Given the description of an element on the screen output the (x, y) to click on. 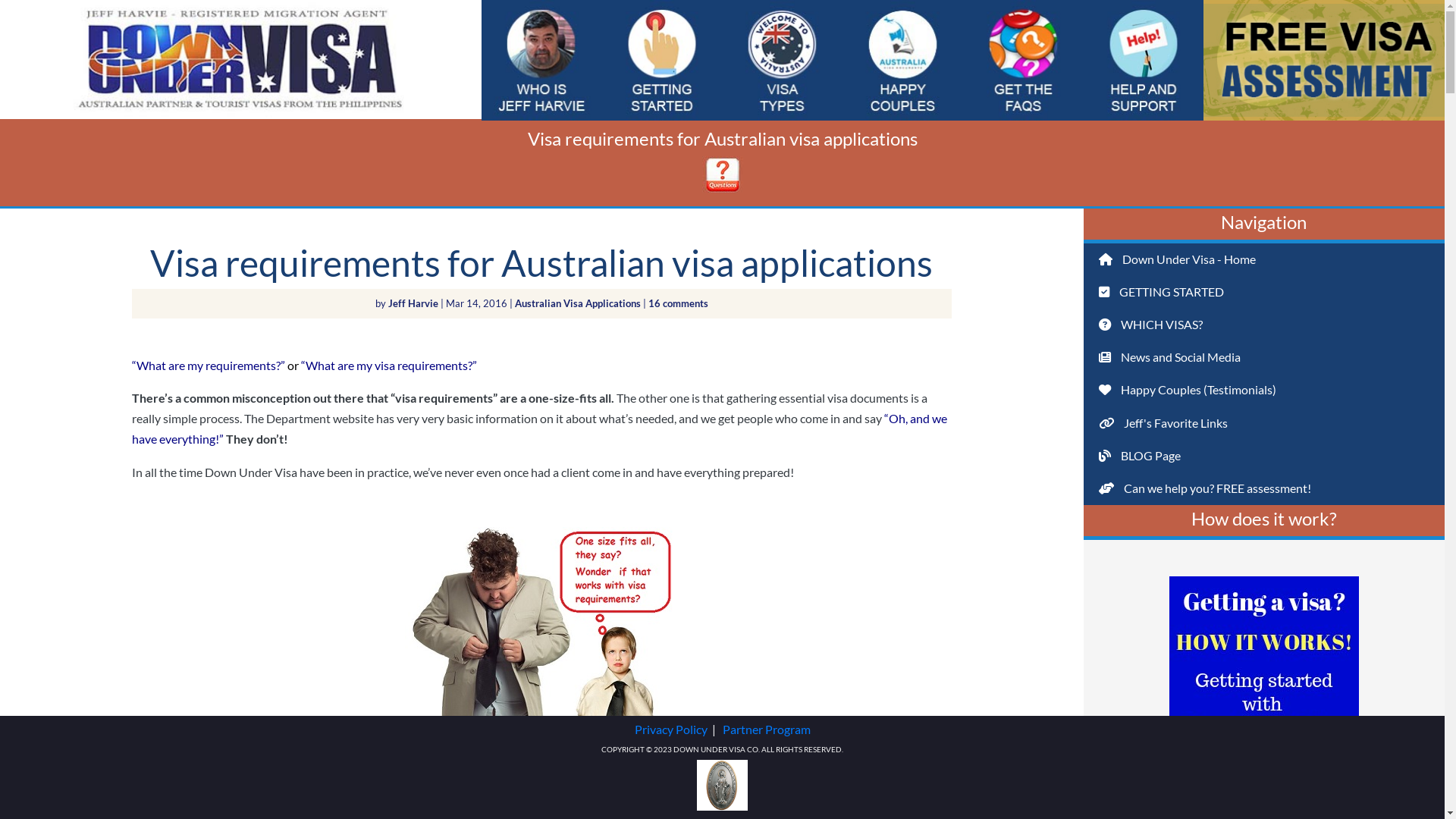
BLOG Page Element type: text (1263, 455)
Happy Couples (Testimonials) Element type: text (1263, 389)
Free Visa Assessment - Philippines Element type: hover (1323, 3)
Jeff Harvie Element type: text (413, 303)
Jeff's Favorite Links Element type: text (1263, 423)
News and Social Media Element type: text (1263, 357)
Down Under Visa - Home Element type: text (1263, 259)
Down Under Visa - Home Element type: text (901, 259)
Down Under Visa Home Element type: hover (240, 113)
Help & Support Element type: hover (1143, 3)
Can we help you? FREE assessment! Element type: text (901, 488)
WHICH VISAS? Element type: text (1263, 324)
News and Social Media Element type: text (901, 357)
Can we help you? FREE assessment! Element type: text (1263, 488)
GETTING STARTED Element type: text (901, 292)
Visa Types Element type: hover (781, 3)
Who Is Jreff Harvie Element type: hover (541, 3)
Australian Visa Applications Element type: text (577, 303)
16 comments Element type: text (678, 303)
Getting Started Element type: hover (662, 3)
Happy Couples (Testimonials) Element type: text (901, 389)
Visa Questions Element type: hover (722, 189)
GETTING STARTED Element type: text (1263, 292)
Happy Couples Element type: hover (902, 3)
Privacy Policy Element type: text (669, 728)
WHICH VISAS? Element type: text (901, 324)
How It Works Element type: hover (1263, 760)
FAQ Element type: hover (1023, 3)
Partner Program Element type: text (765, 728)
Jeff's Favorite Links Element type: text (901, 423)
BLOG Page Element type: text (901, 455)
